Given the description of an element on the screen output the (x, y) to click on. 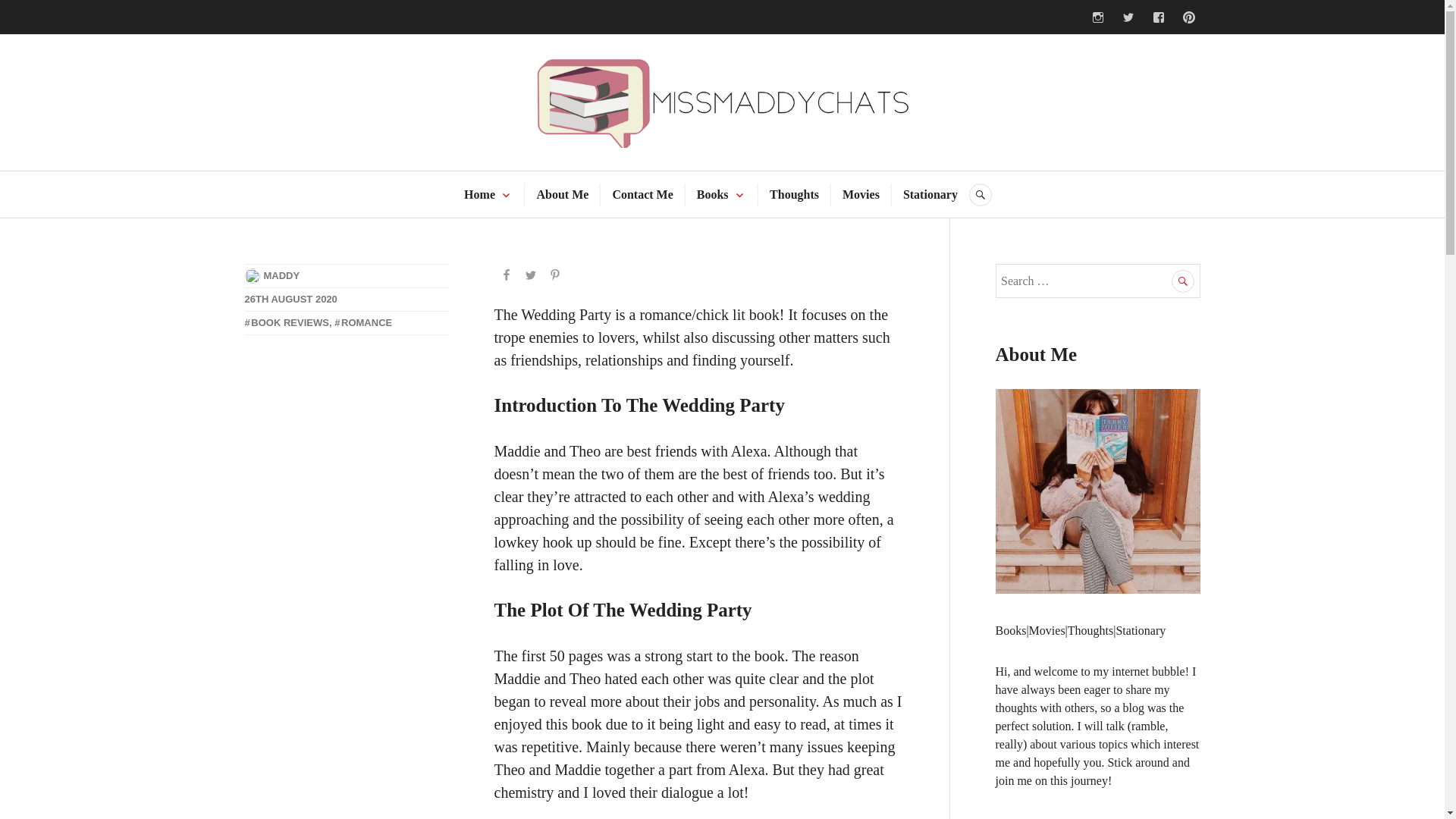
Twitter (1127, 16)
Home (479, 194)
Search (1182, 281)
Contact Me (641, 194)
Thoughts (794, 194)
Instagram (1097, 16)
Share on Twitter (530, 275)
Pinterest (1187, 16)
Facebook (1158, 16)
About Me (561, 194)
